Given the description of an element on the screen output the (x, y) to click on. 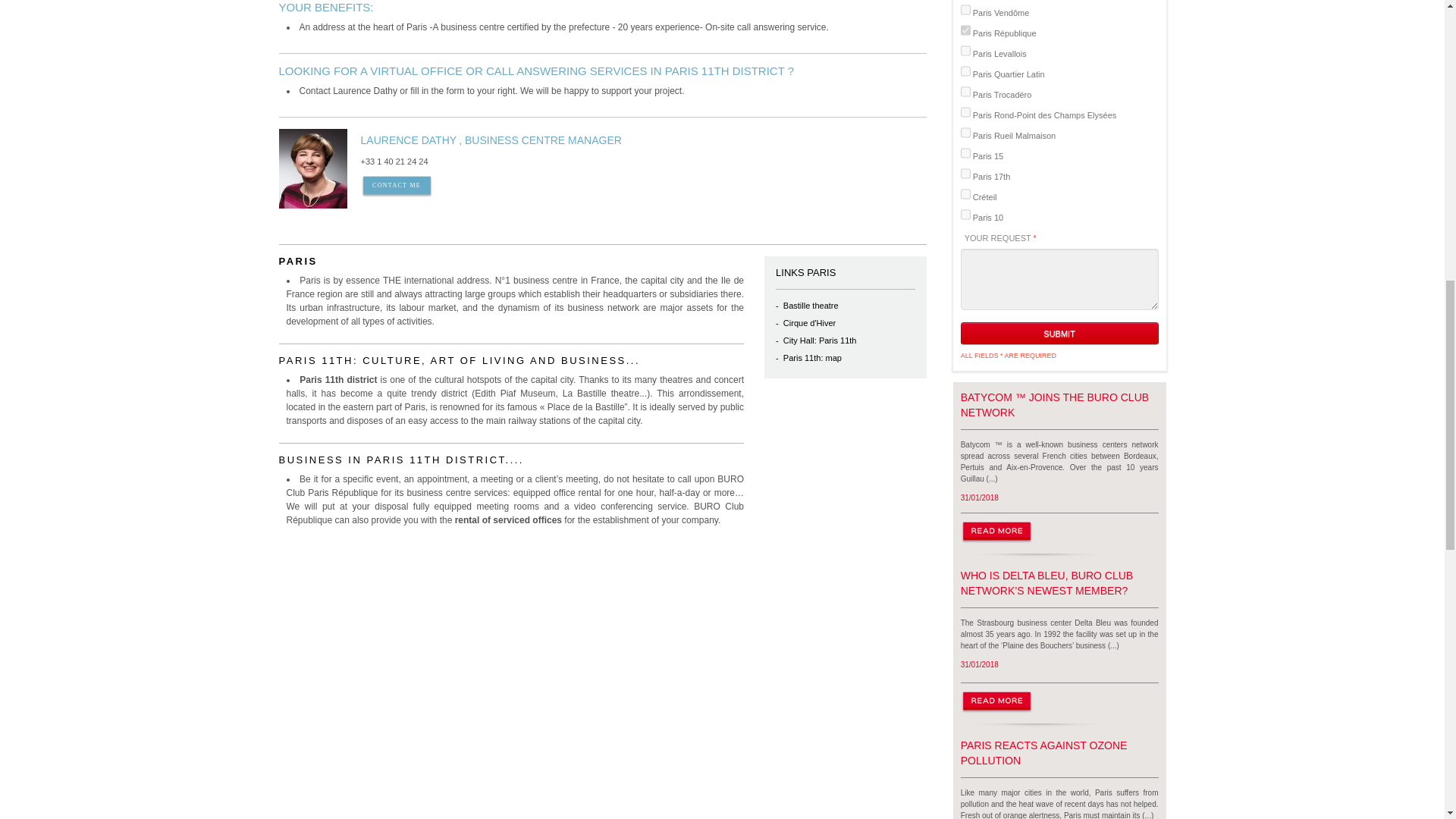
CONTACT ME (396, 186)
-  Bastille theatre (845, 305)
-  Cirque d'Hiver (845, 323)
-  City Hall: Paris 11th (845, 340)
